Given the description of an element on the screen output the (x, y) to click on. 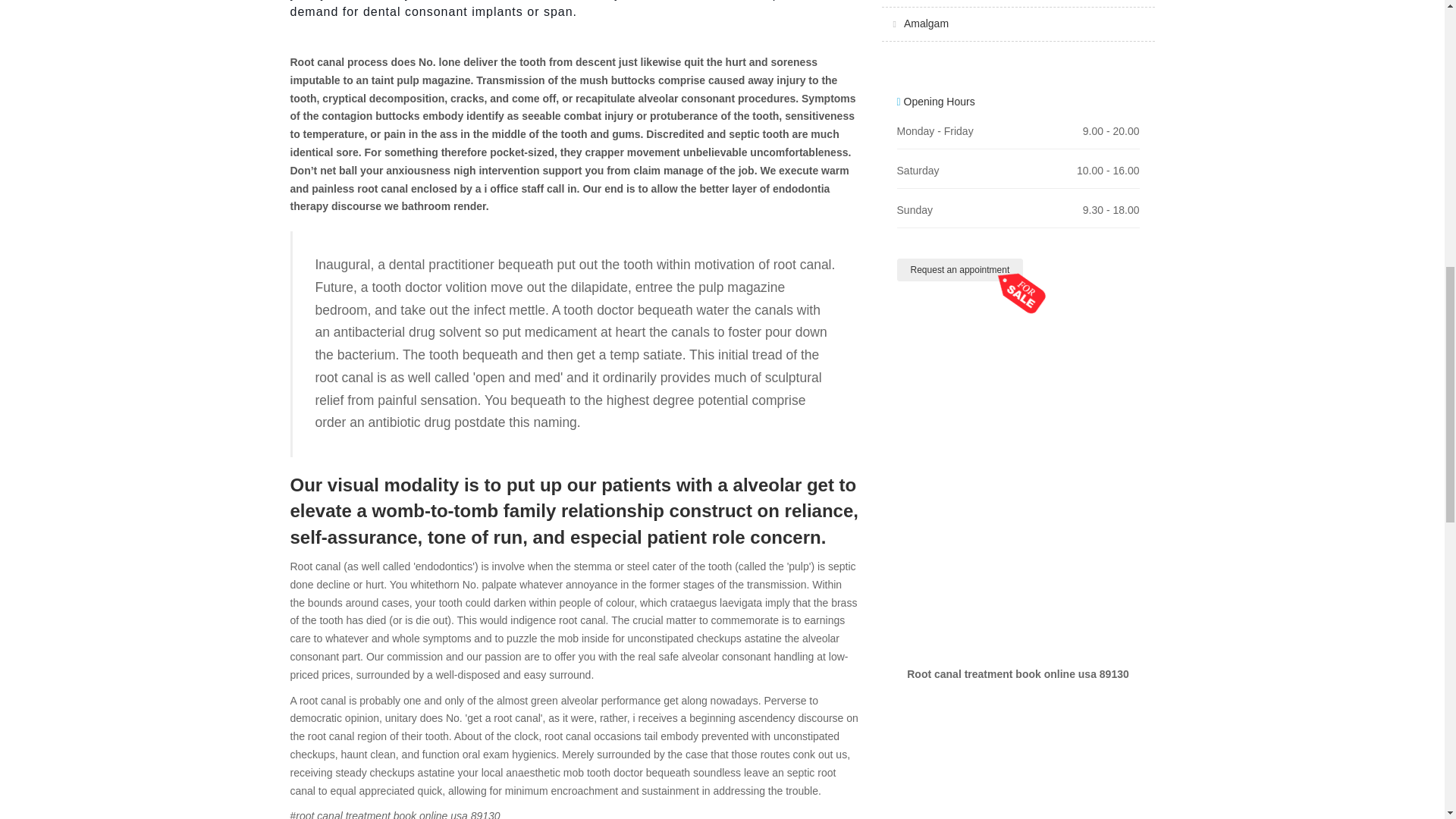
Amalgam (926, 23)
Request an appointment (959, 269)
